Given the description of an element on the screen output the (x, y) to click on. 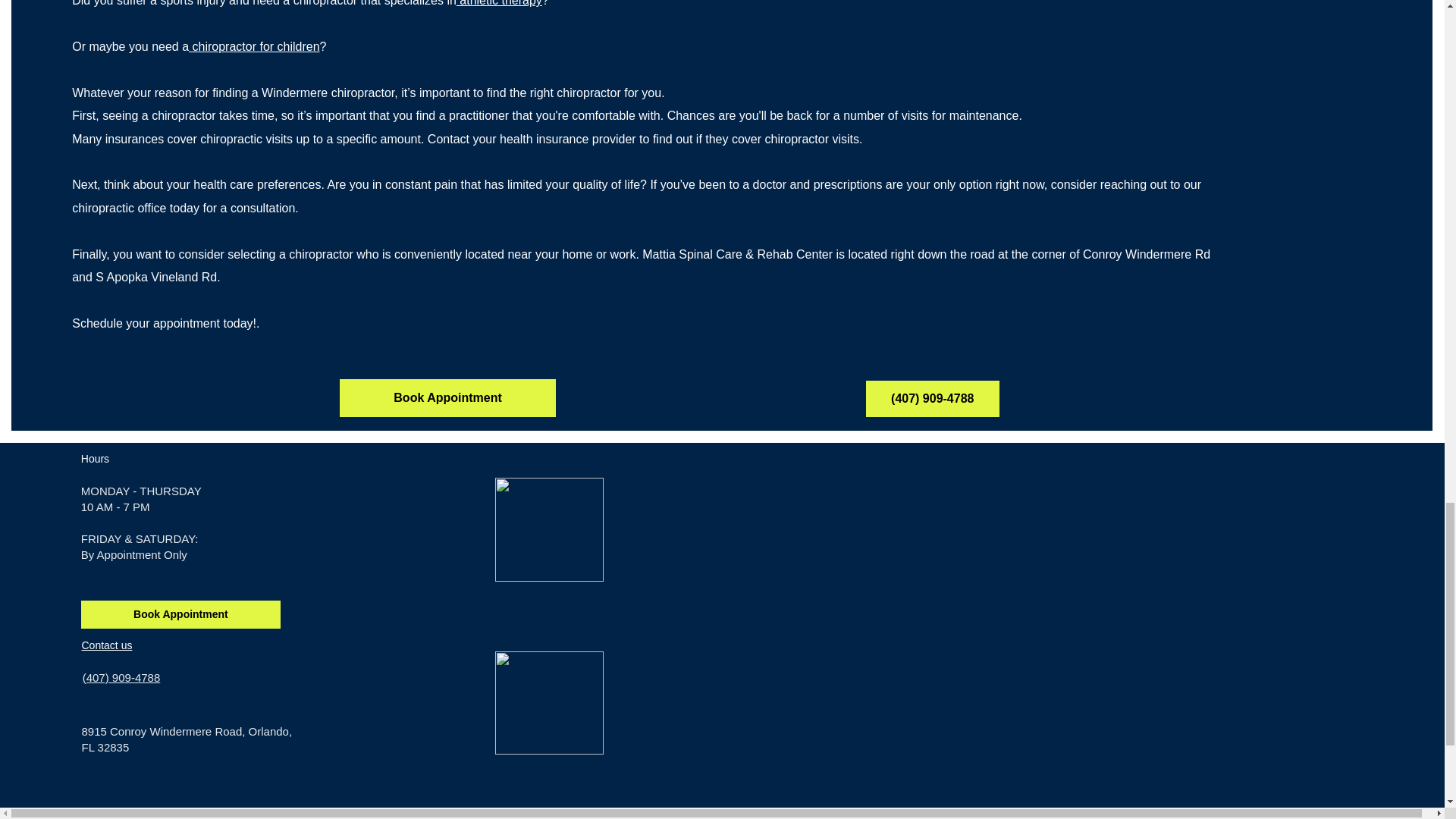
Book Appointment (447, 397)
Contact us (106, 645)
athletic therapy (499, 3)
chiropractor for children (254, 46)
Book Appointment (181, 614)
